Given the description of an element on the screen output the (x, y) to click on. 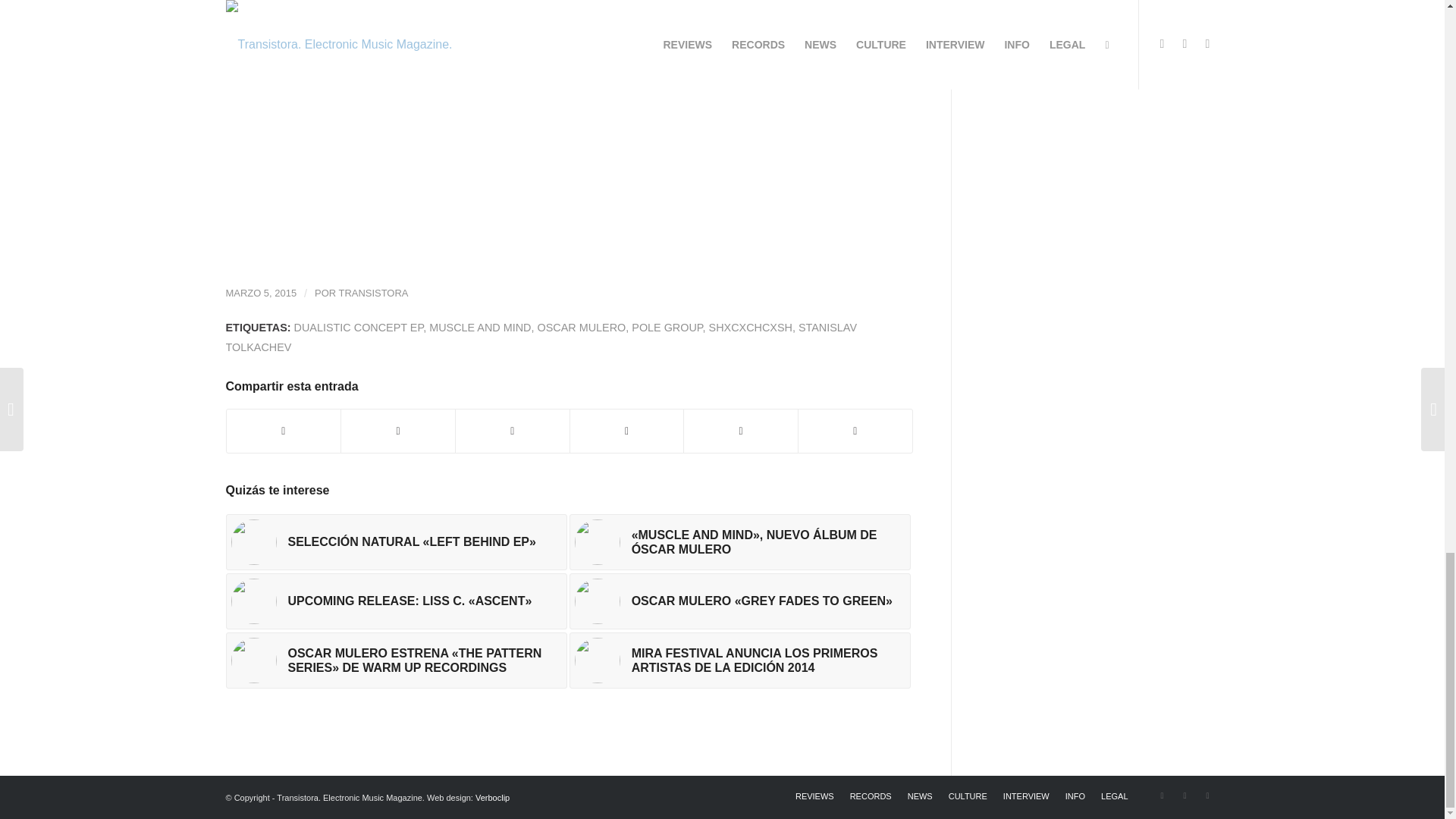
POLE GROUP (666, 326)
STANISLAV TOLKACHEV (541, 336)
MUSCLE AND MIND (480, 326)
muscle-and-mind-new-album-oscar-mulero-transistora (597, 542)
DUALISTIC CONCEPT EP (358, 326)
TRANSISTORA (374, 292)
SHXCXCHCXSH (750, 326)
Entradas de Transistora (374, 292)
OSCAR MULERO (581, 326)
seleccion natural pole group transistora (253, 542)
